Given the description of an element on the screen output the (x, y) to click on. 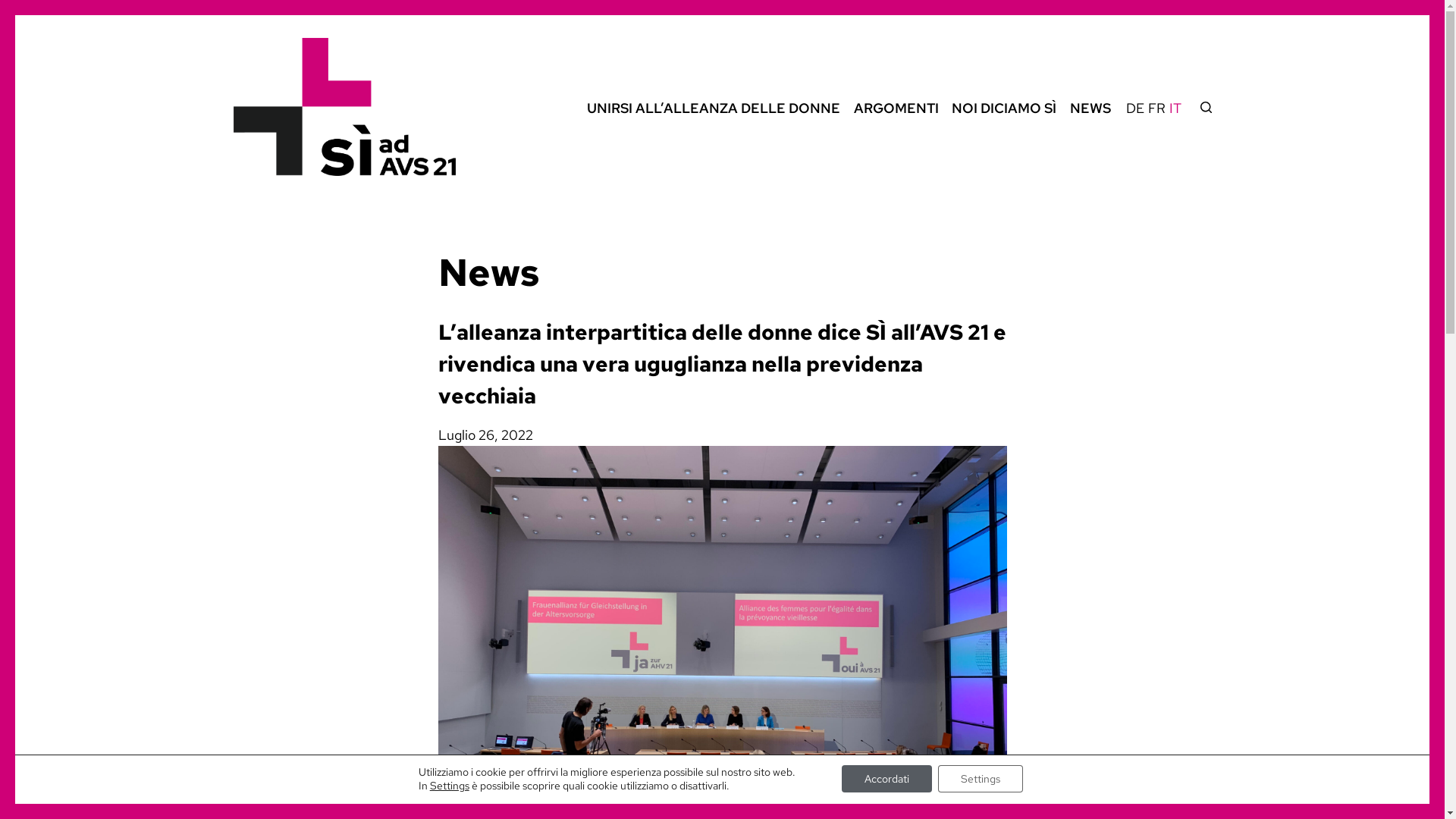
FR Element type: text (1158, 147)
DE Element type: text (1136, 147)
Skip to content Element type: text (15, 7)
Accordati Element type: text (886, 778)
IT Element type: text (1177, 147)
Settings Element type: text (980, 778)
